Given the description of an element on the screen output the (x, y) to click on. 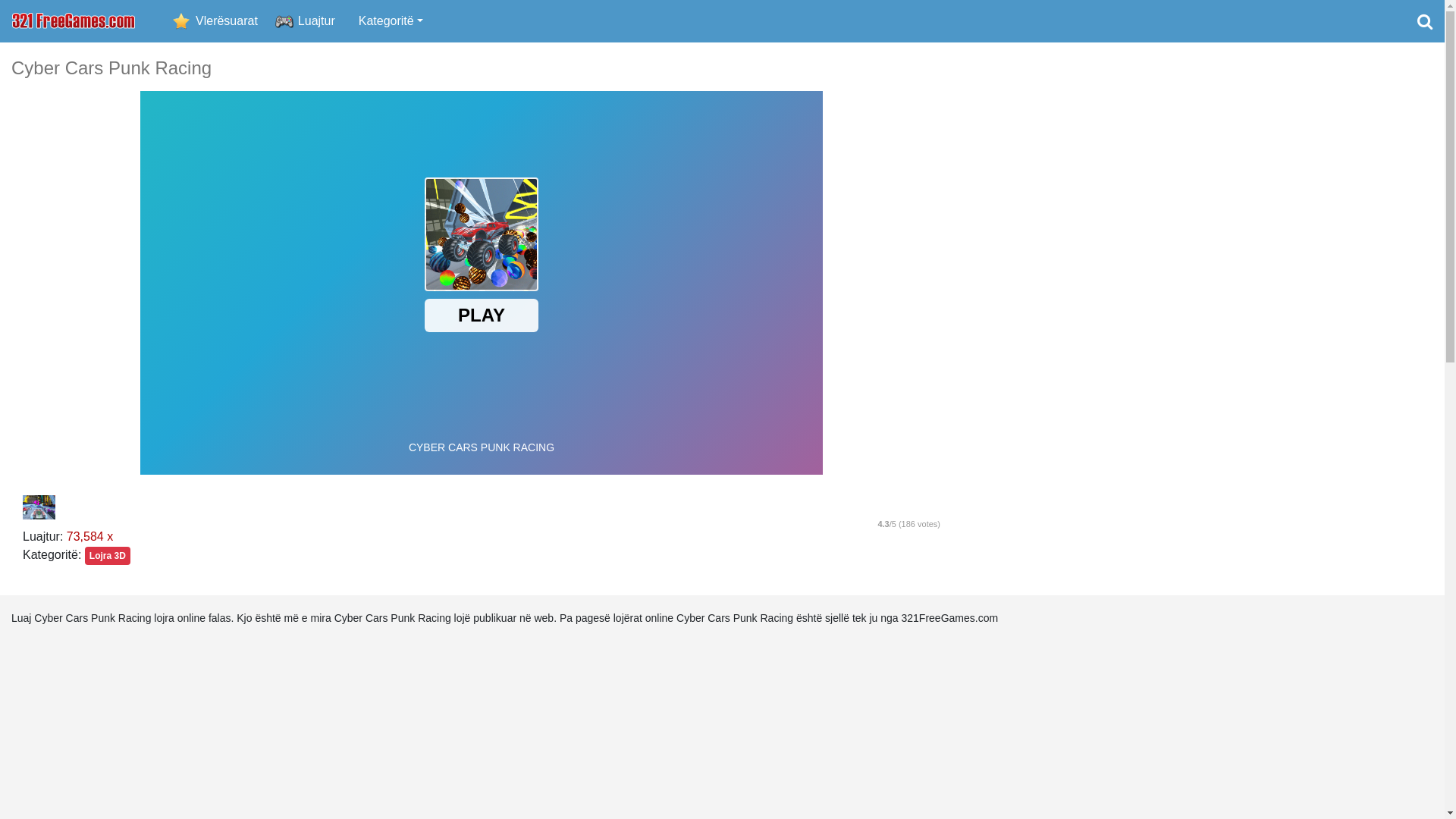
2 Element type: text (860, 506)
Advertisement Element type: hover (1203, 284)
1 Element type: text (837, 506)
3 Element type: text (883, 506)
Lojra Element type: hover (73, 20)
4 Element type: text (905, 506)
Lojra 3D Element type: text (107, 555)
5 Element type: text (928, 506)
Luajtur Element type: text (316, 21)
